Given the description of an element on the screen output the (x, y) to click on. 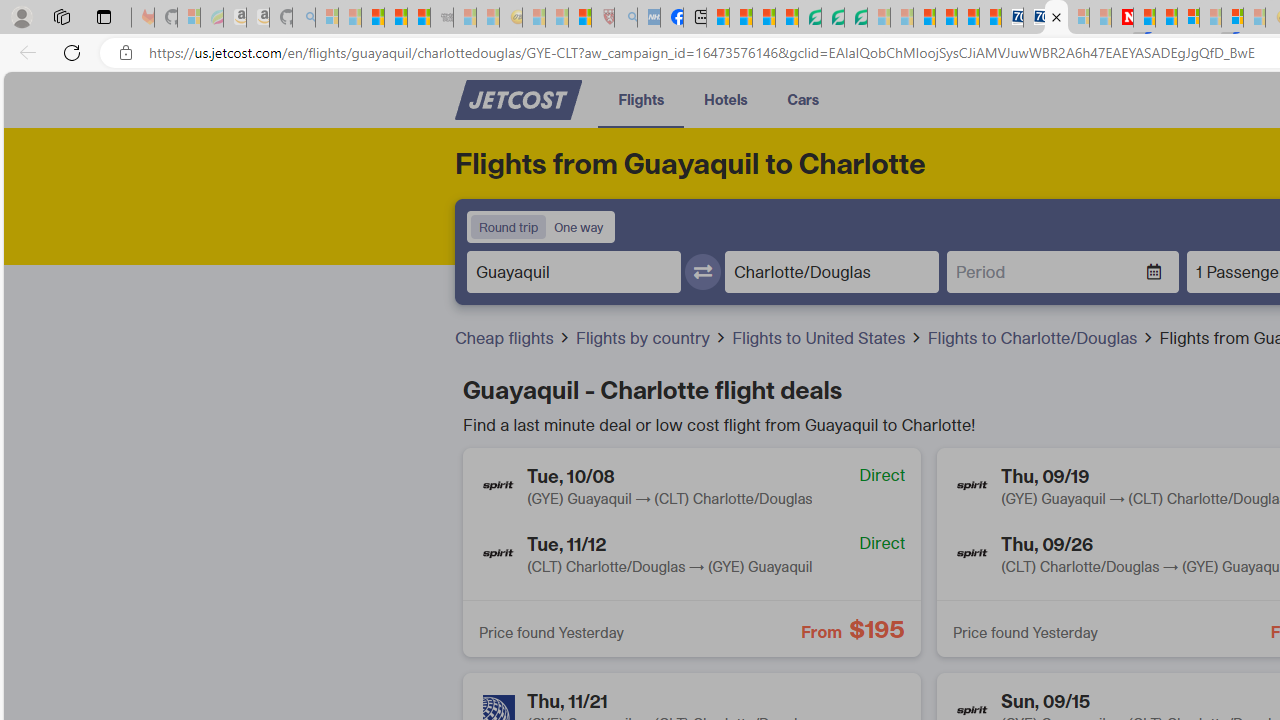
LendingTree - Compare Lenders (809, 17)
Flights (640, 98)
Cheap flights (506, 337)
NCL Adult Asthma Inhaler Choice Guideline - Sleeping (648, 17)
Combat Siege (442, 17)
World - MSN (763, 17)
Microsoft Word - consumer-privacy address update 2.2021 (855, 17)
Class: no-underline cursor-pointer (518, 99)
